Given the description of an element on the screen output the (x, y) to click on. 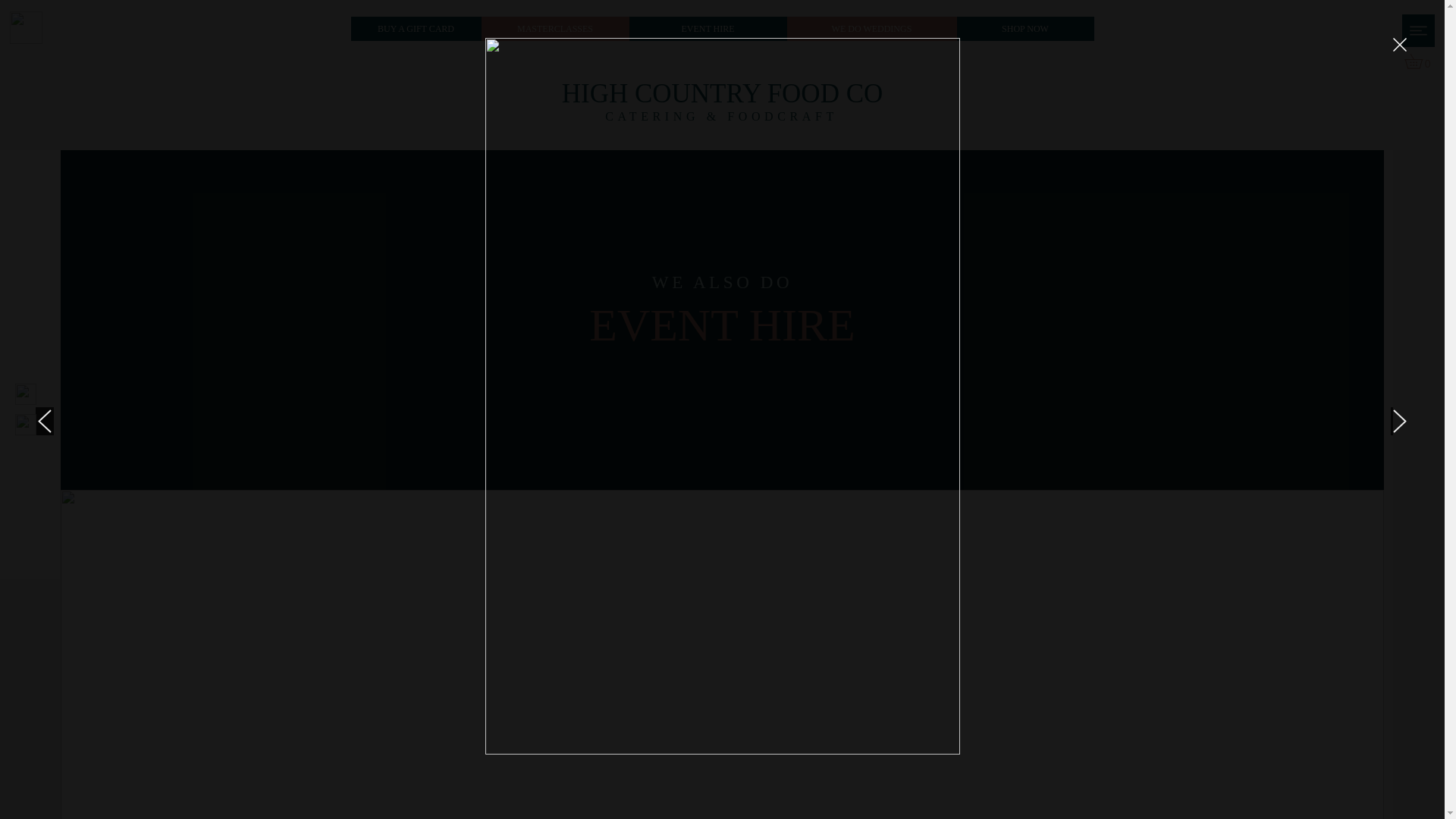
SHOP NOW Element type: text (1025, 28)
MASTERCLASSES Element type: text (554, 28)
EVENT HIRE Element type: text (708, 28)
BUY A GIFT CARD Element type: text (415, 28)
WE DO WEDDINGS Element type: text (872, 28)
0 Element type: text (1420, 61)
